Given the description of an element on the screen output the (x, y) to click on. 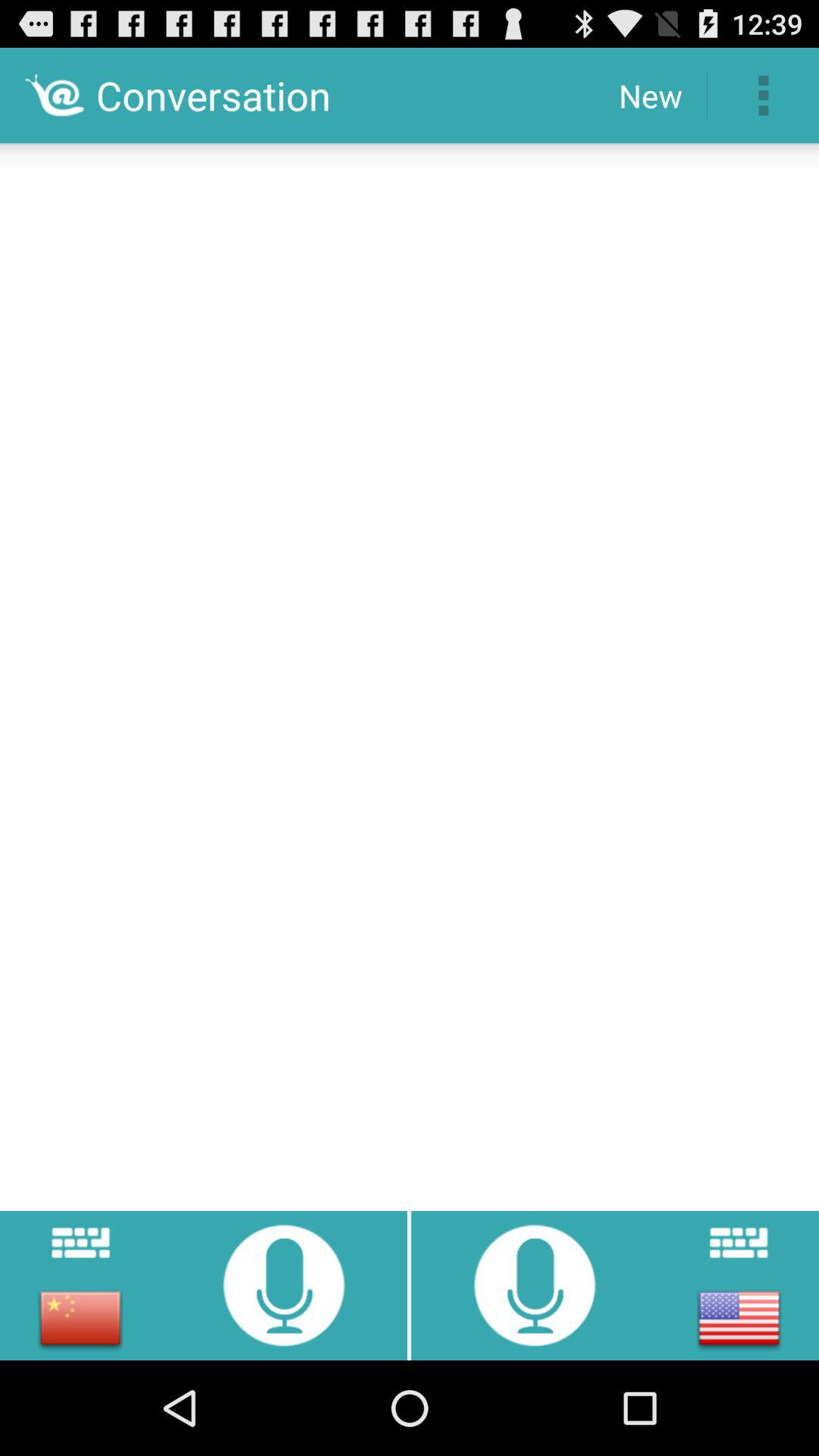
turn off new icon (650, 95)
